Given the description of an element on the screen output the (x, y) to click on. 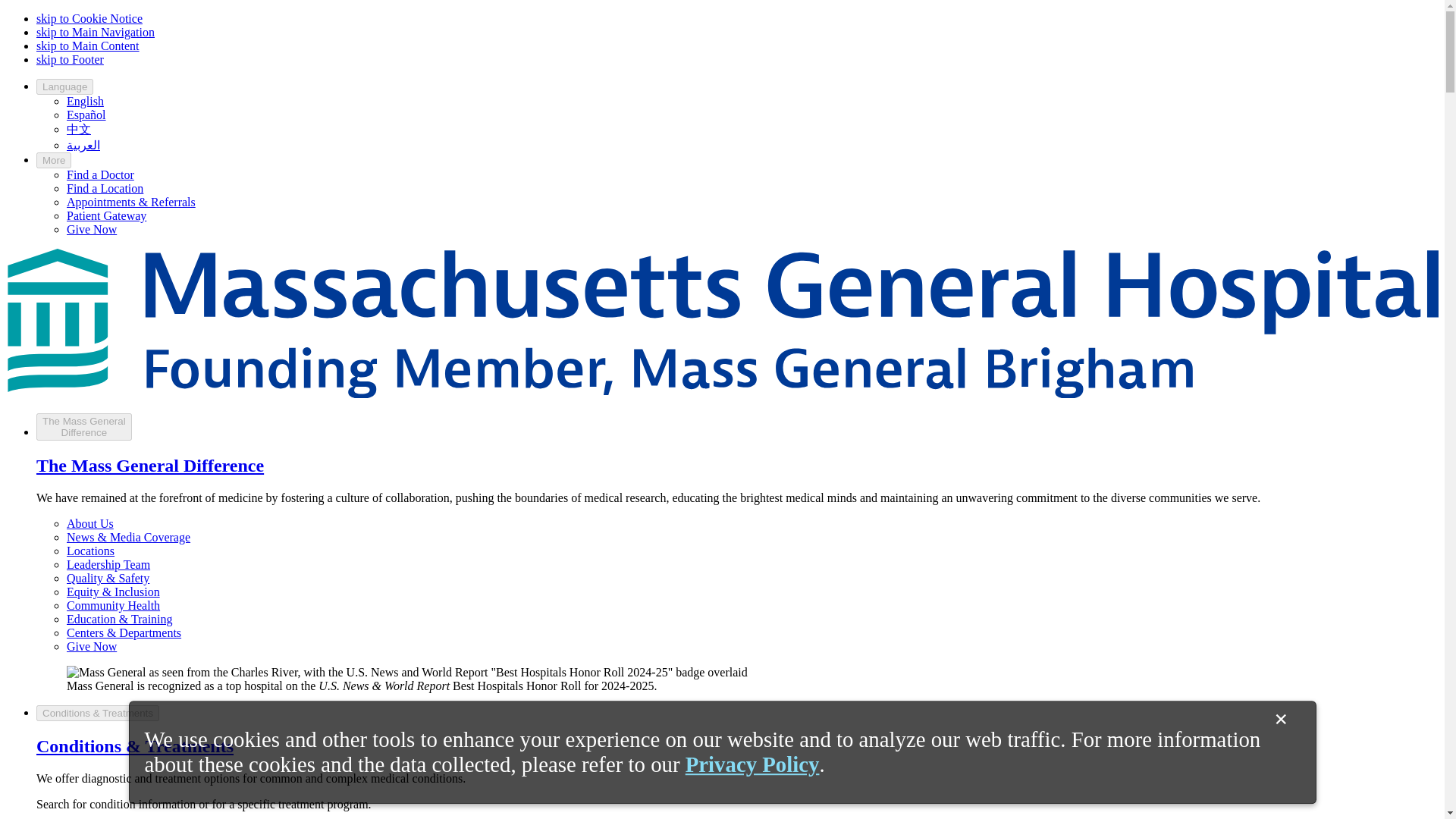
About Us (89, 522)
More (53, 160)
Give Now (91, 228)
skip to Cookie Notice (89, 18)
Find a Location (104, 187)
skip to Main Navigation (95, 31)
skip to Footer (69, 59)
skip to Main Content (87, 45)
Community Health (113, 604)
Patient Gateway (106, 215)
Find a Doctor (99, 174)
Language (64, 86)
Locations (90, 550)
The Mass General Difference (149, 465)
